Given the description of an element on the screen output the (x, y) to click on. 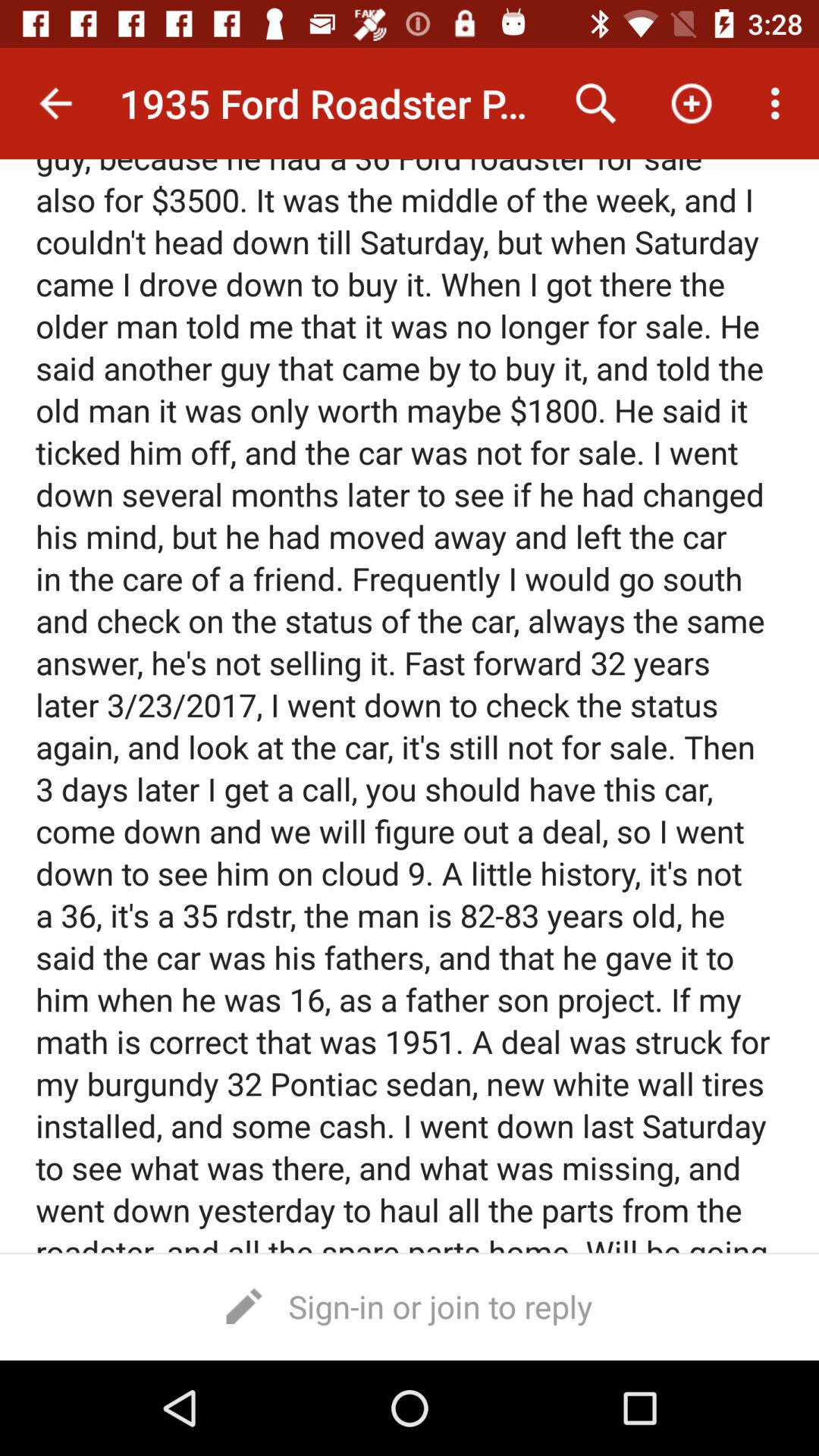
sign in to the app (409, 1306)
